Given the description of an element on the screen output the (x, y) to click on. 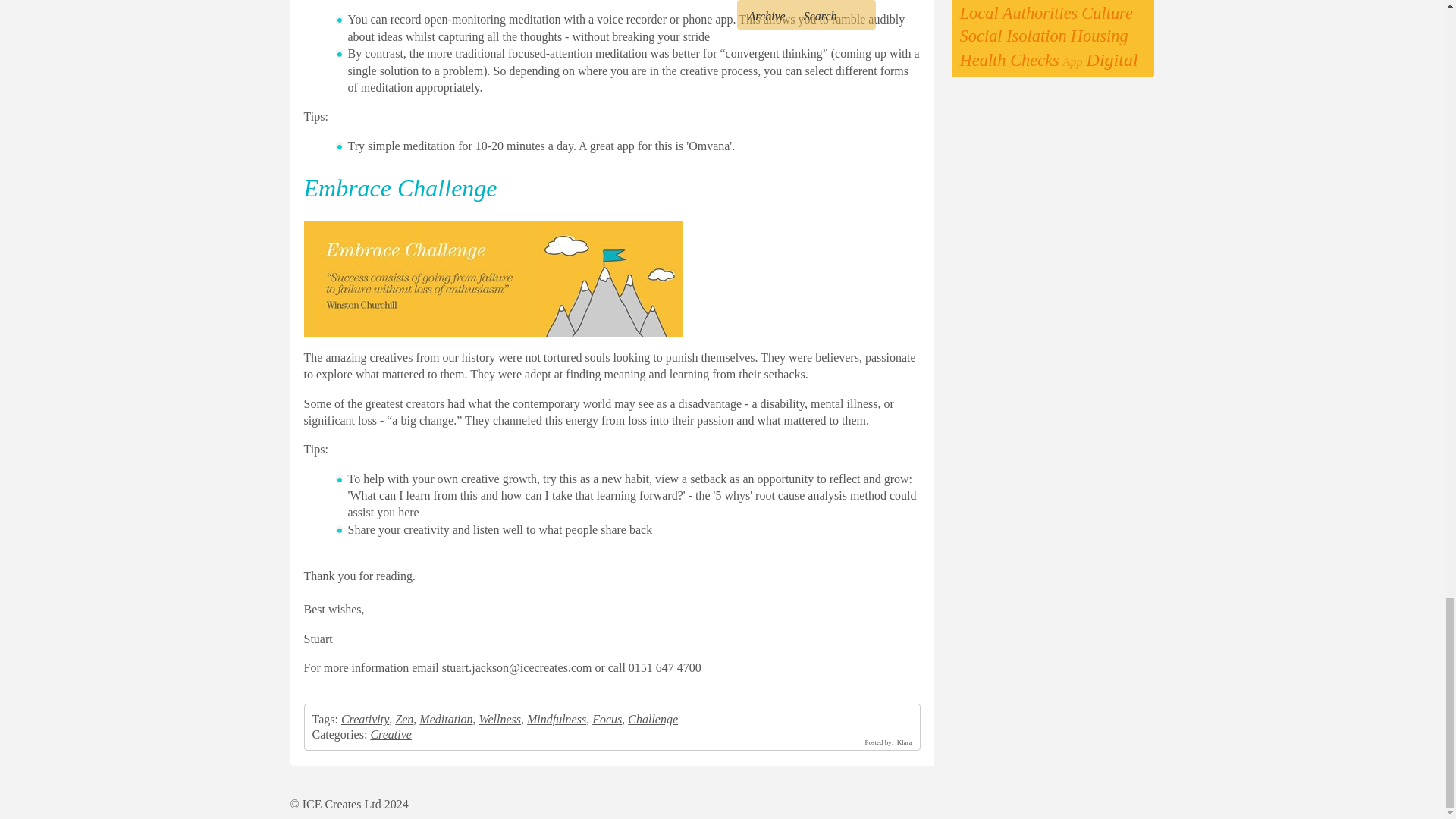
Zen (403, 718)
Meditation (445, 718)
Focus (606, 718)
Challenge (652, 718)
Creative (390, 734)
Mindfulness (556, 718)
Creativity (364, 718)
Wellness (500, 718)
